Given the description of an element on the screen output the (x, y) to click on. 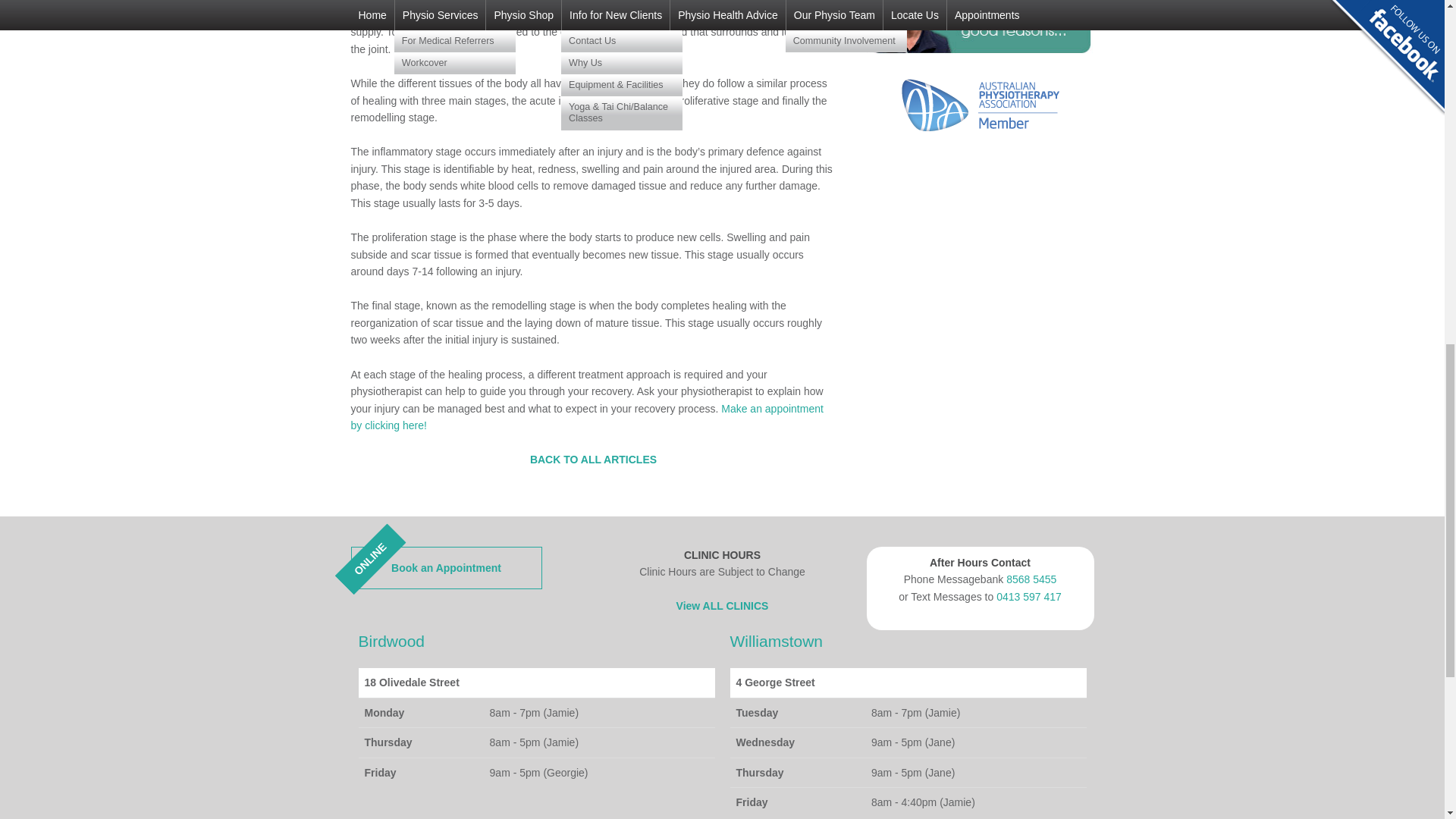
8568 5455 (1031, 579)
0413 597 417 (1028, 596)
View ALL CLINICS (722, 605)
Make an appointment by clicking here! (445, 567)
BACK TO ALL ARTICLES (586, 417)
